Given the description of an element on the screen output the (x, y) to click on. 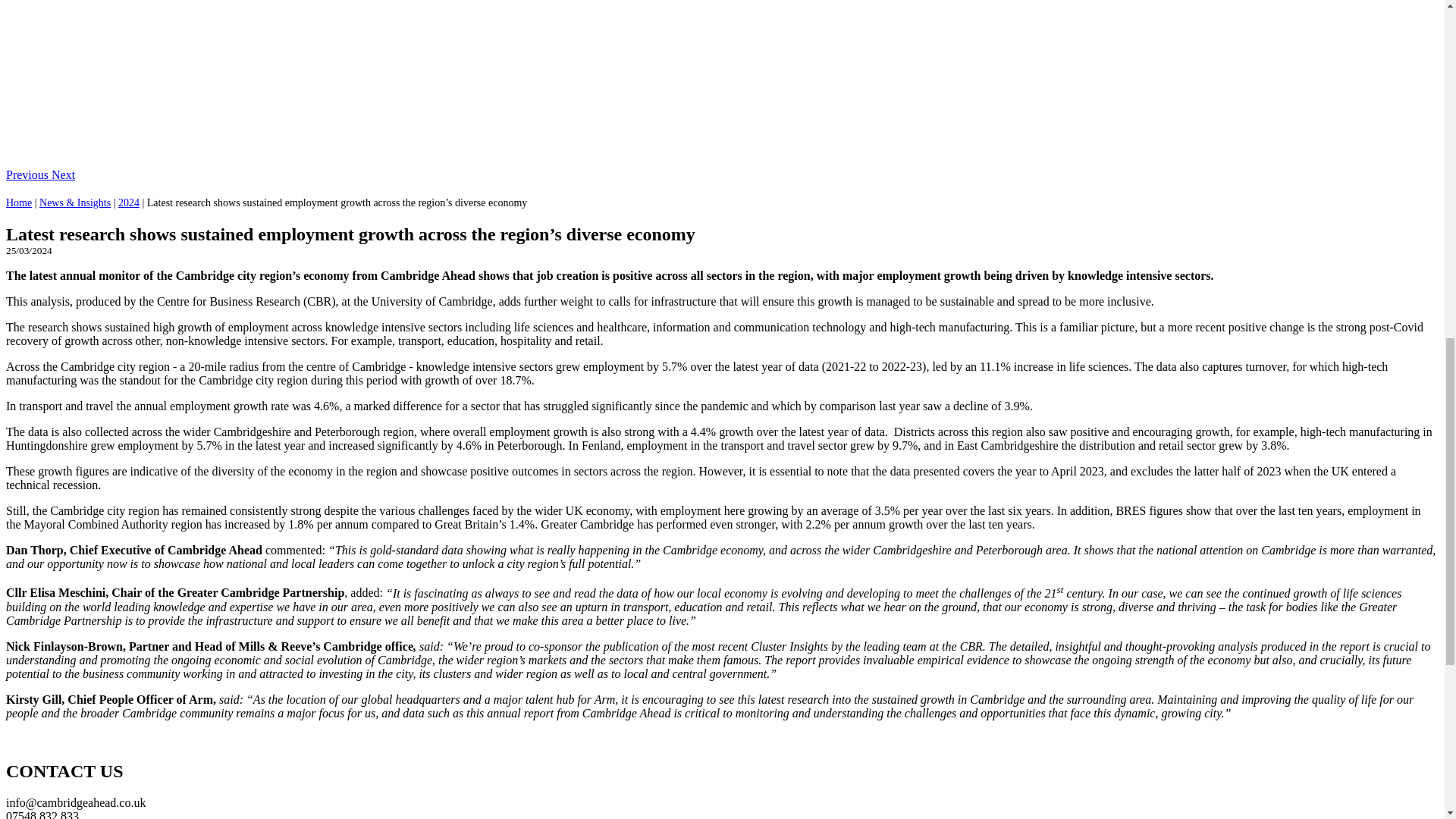
Home (18, 202)
Next (62, 174)
Previous (27, 174)
2024 (128, 202)
